Given the description of an element on the screen output the (x, y) to click on. 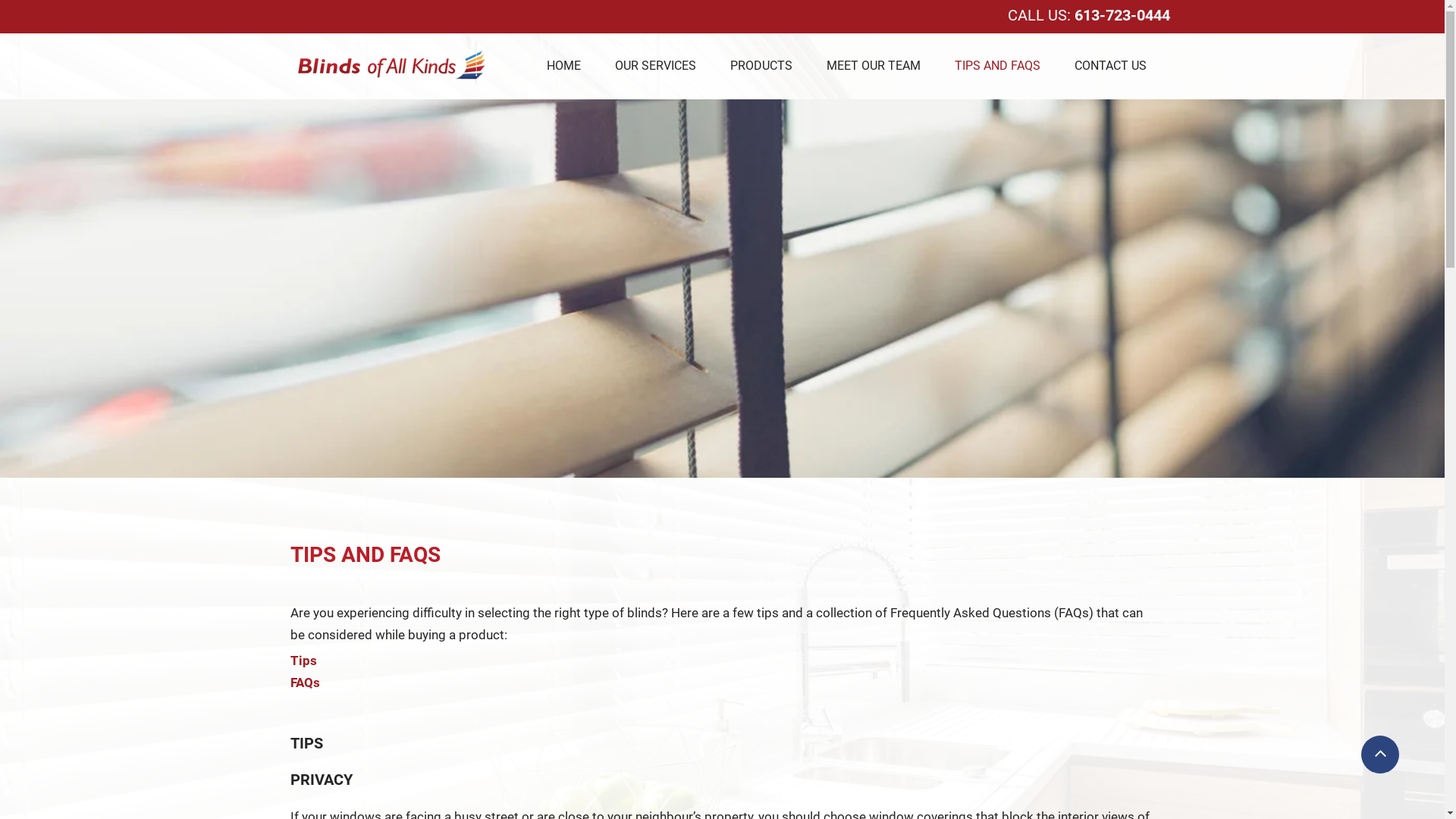
PRODUCTS Element type: text (760, 65)
613-723-0444 Element type: text (1121, 15)
MEET OUR TEAM Element type: text (873, 65)
TIPS AND FAQS Element type: text (996, 65)
CONTACT US Element type: text (1109, 65)
FAQs Element type: text (304, 682)
Tips Element type: text (302, 660)
HOME Element type: text (562, 65)
OUR SERVICES Element type: text (654, 65)
